Given the description of an element on the screen output the (x, y) to click on. 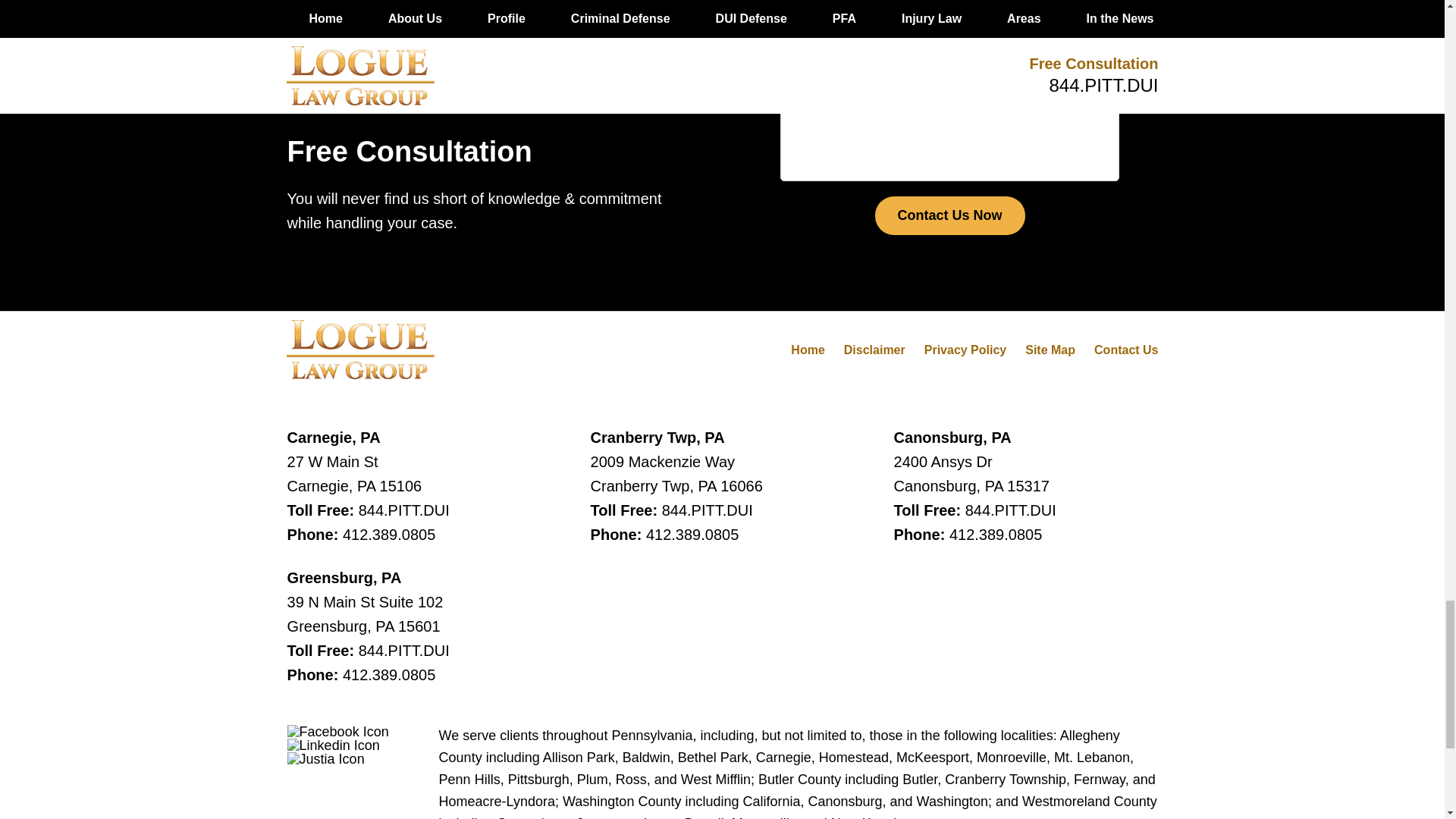
844.PITT.DUI (403, 510)
412.389.0805 (388, 534)
412.389.0805 (995, 534)
844.PITT.DUI (1011, 510)
Justia (325, 758)
Facebook (337, 731)
412.389.0805 (388, 674)
844.PITT.DUI (707, 510)
412.389.0805 (692, 534)
Linkedin (333, 745)
844.PITT.DUI (403, 650)
Contact Us Now (950, 215)
